Given the description of an element on the screen output the (x, y) to click on. 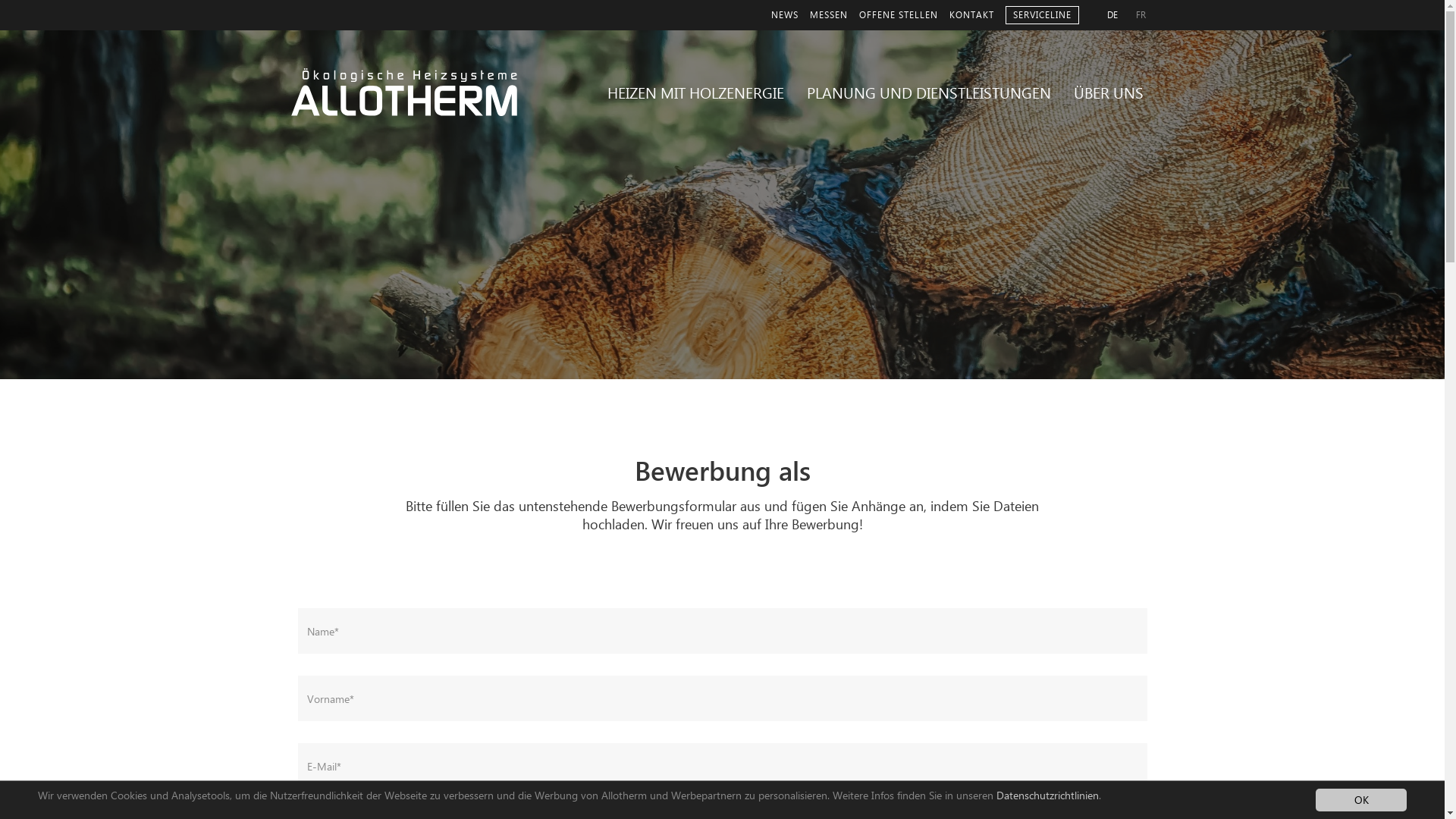
NEWS Element type: text (783, 14)
HEIZEN MIT HOLZENERGIE Element type: text (694, 93)
OFFENE STELLEN Element type: text (897, 14)
Datenschutzrichtlinien Element type: text (1045, 794)
KONTAKT Element type: text (971, 14)
PLANUNG UND DIENSTLEISTUNGEN Element type: text (928, 93)
FR Element type: text (1140, 15)
DE Element type: text (1112, 15)
MESSEN Element type: text (828, 14)
SERVICELINE Element type: text (1042, 14)
OK Element type: text (1360, 799)
